Given the description of an element on the screen output the (x, y) to click on. 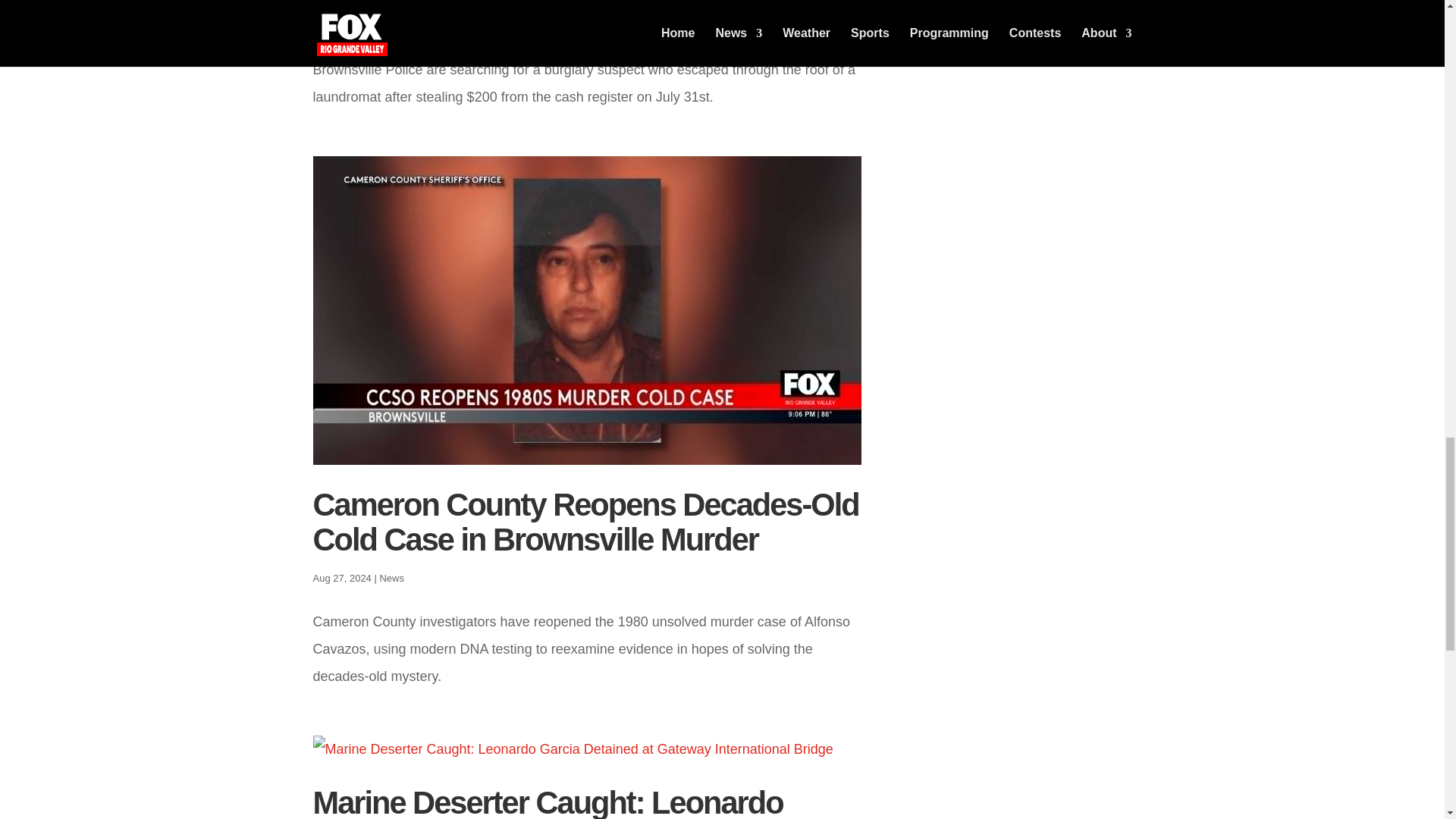
News (391, 25)
News (391, 577)
